Given the description of an element on the screen output the (x, y) to click on. 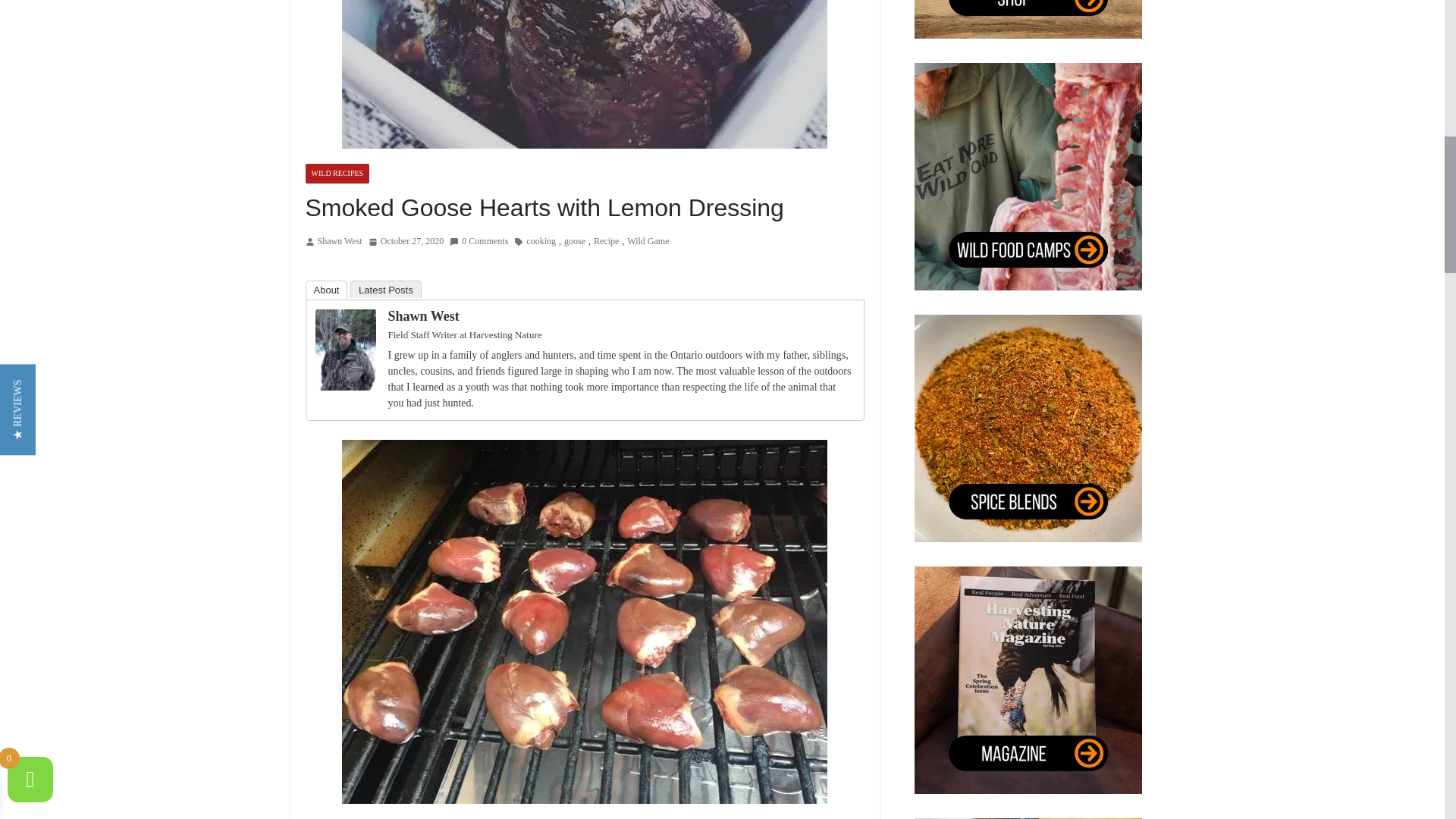
Shawn West (339, 241)
Shawn West (345, 318)
7:00 am (406, 241)
